Given the description of an element on the screen output the (x, y) to click on. 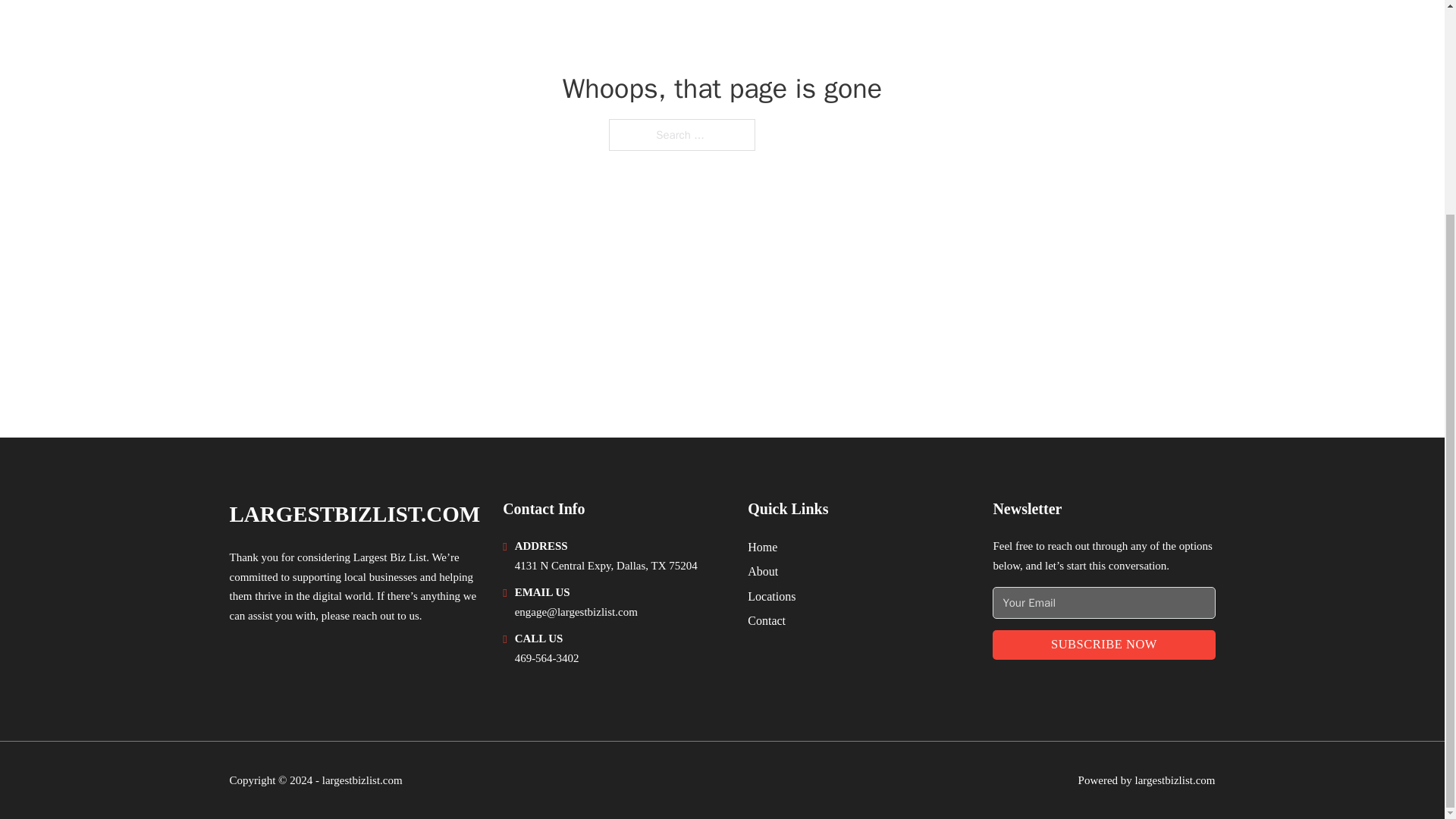
Home (762, 547)
LARGESTBIZLIST.COM (354, 514)
Locations (771, 596)
Contact (767, 620)
SUBSCRIBE NOW (1103, 644)
469-564-3402 (547, 657)
About (762, 571)
